Given the description of an element on the screen output the (x, y) to click on. 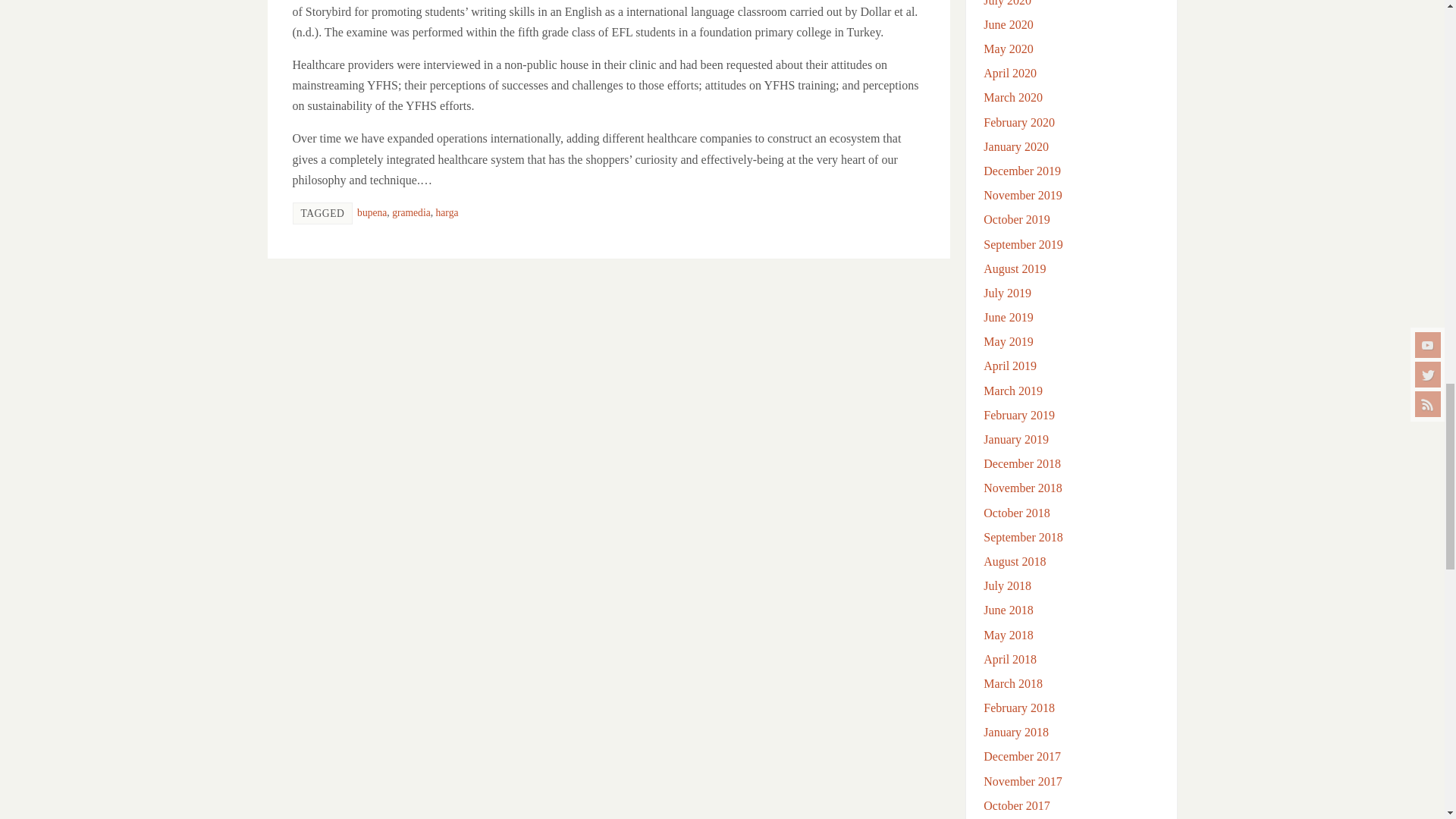
bupena (371, 212)
gramedia (410, 212)
harga (446, 212)
